Given the description of an element on the screen output the (x, y) to click on. 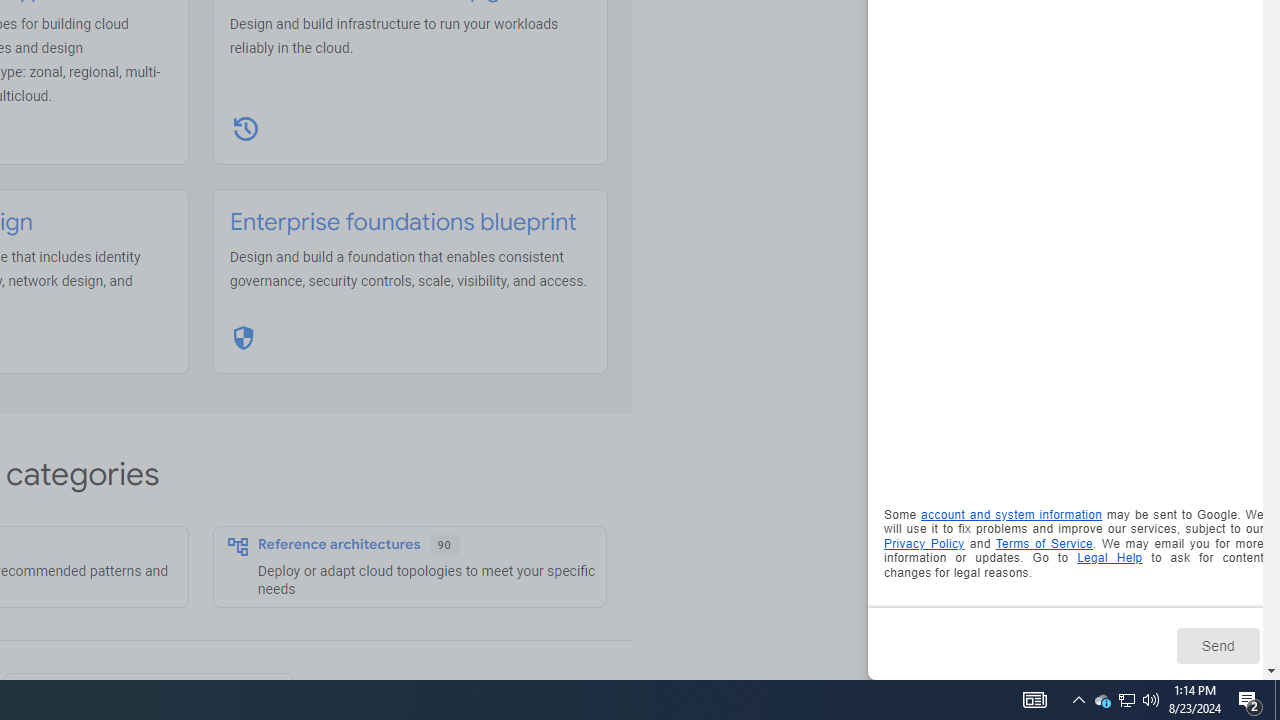
Enterprise foundations blueprint (403, 221)
Opens in a new tab. Terms of Service (1044, 542)
account and system information (1012, 515)
Send (1217, 645)
Opens in a new tab. Legal Help (1109, 557)
Opens in a new tab. Privacy Policy (924, 542)
